Given the description of an element on the screen output the (x, y) to click on. 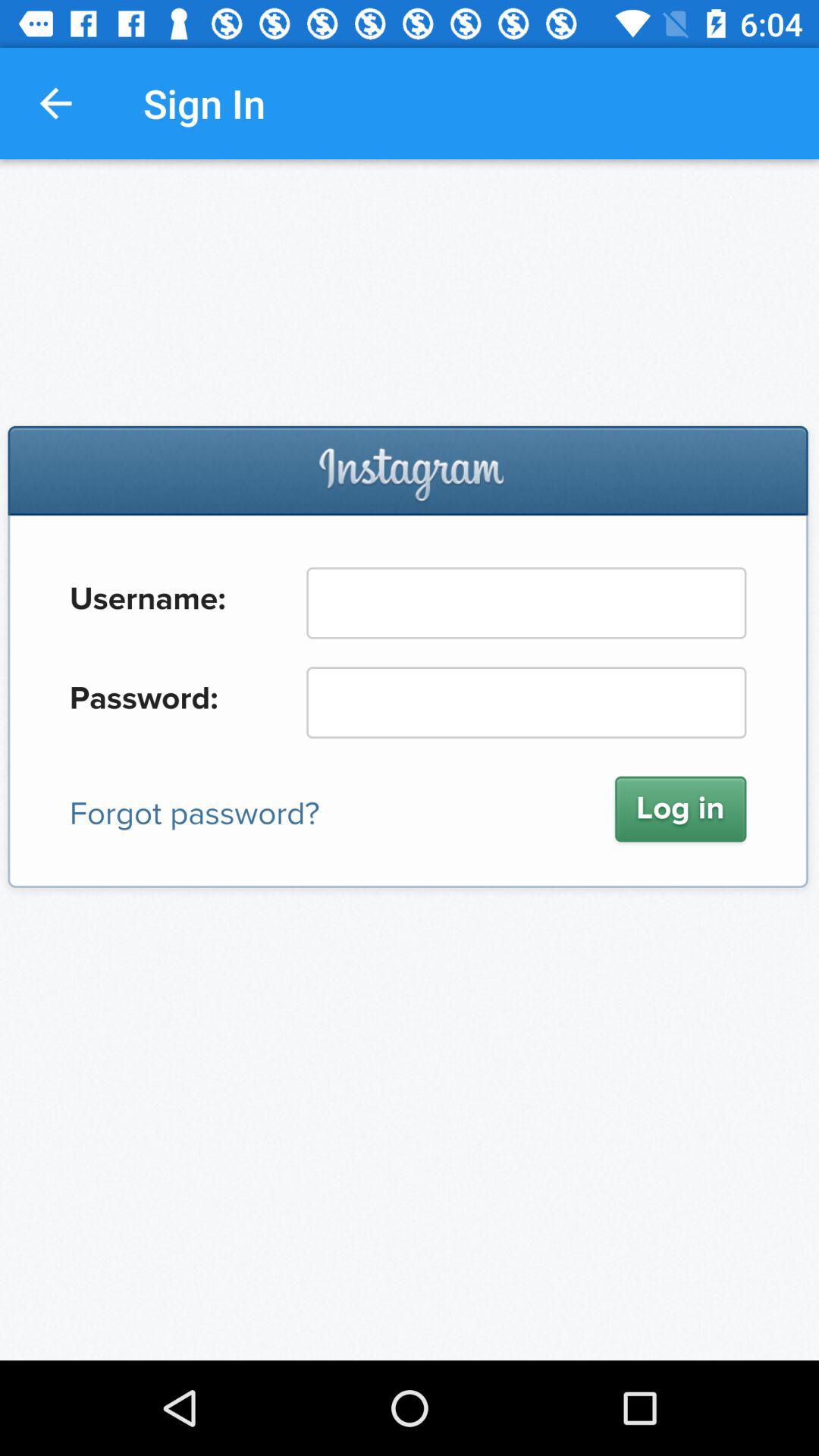
log in (409, 759)
